Given the description of an element on the screen output the (x, y) to click on. 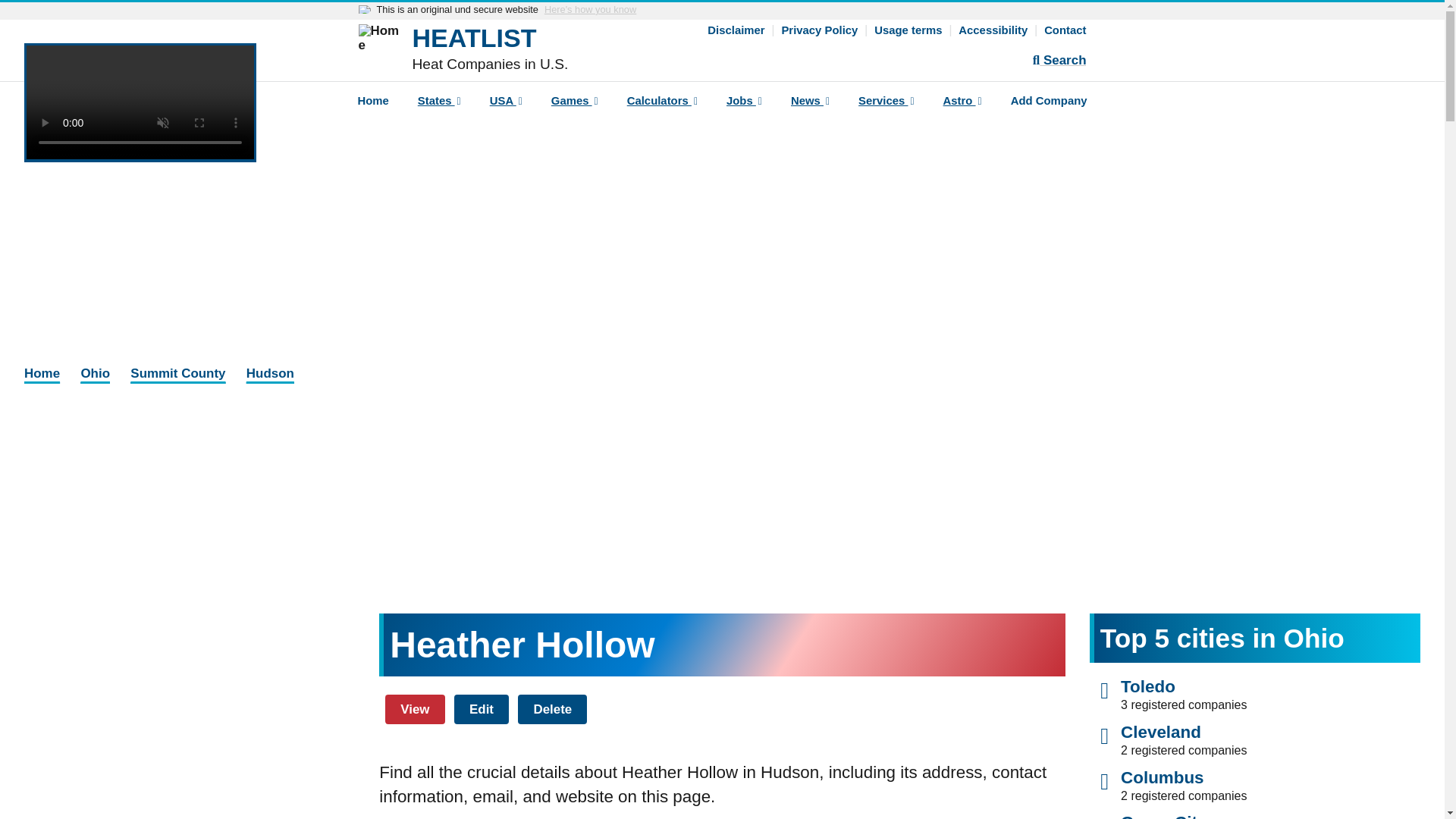
Contact (1064, 30)
Accessibility (992, 30)
HEATLIST (474, 38)
Home (372, 102)
Home (474, 38)
Home (382, 52)
Here's how you know (590, 9)
States (439, 102)
Disclaimer (735, 30)
Usage terms (908, 30)
Search (1059, 61)
Privacy Policy (818, 30)
